Given the description of an element on the screen output the (x, y) to click on. 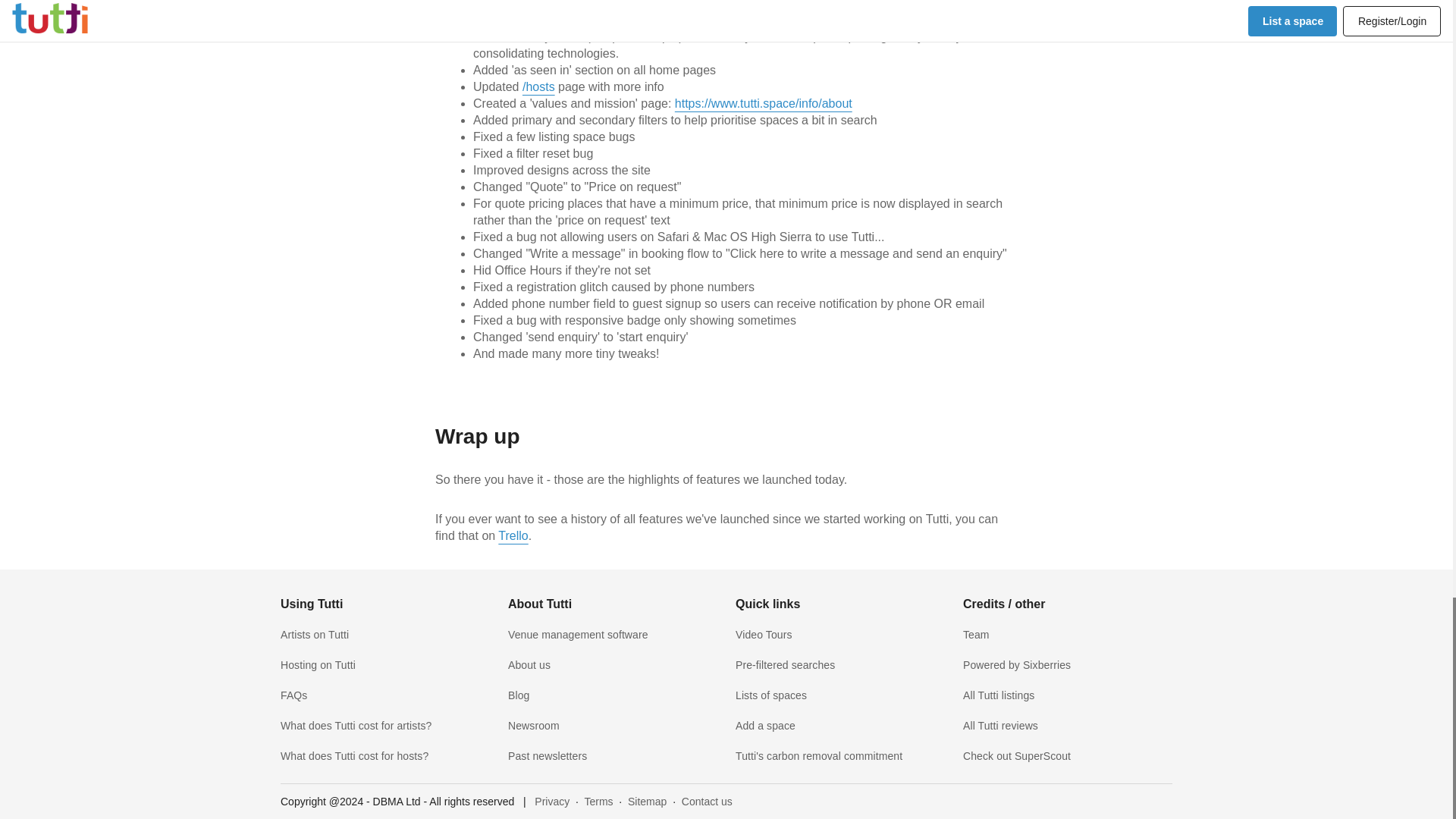
Newsroom (533, 725)
Patch Notes (645, 591)
Venue management software (577, 634)
Tutti Patch Notes (645, 591)
Check out SuperScout (1016, 756)
What does Tutti cost for artists? (355, 725)
Tutti's carbon removal commitment (818, 756)
All Tutti listings (997, 695)
What does Tutti cost for hosts? (354, 756)
All Tutti reviews (1000, 725)
About us (529, 664)
Team (976, 634)
Privacy (553, 801)
Powered by Sixberries (1016, 664)
Hosting on Tutti (318, 664)
